Given the description of an element on the screen output the (x, y) to click on. 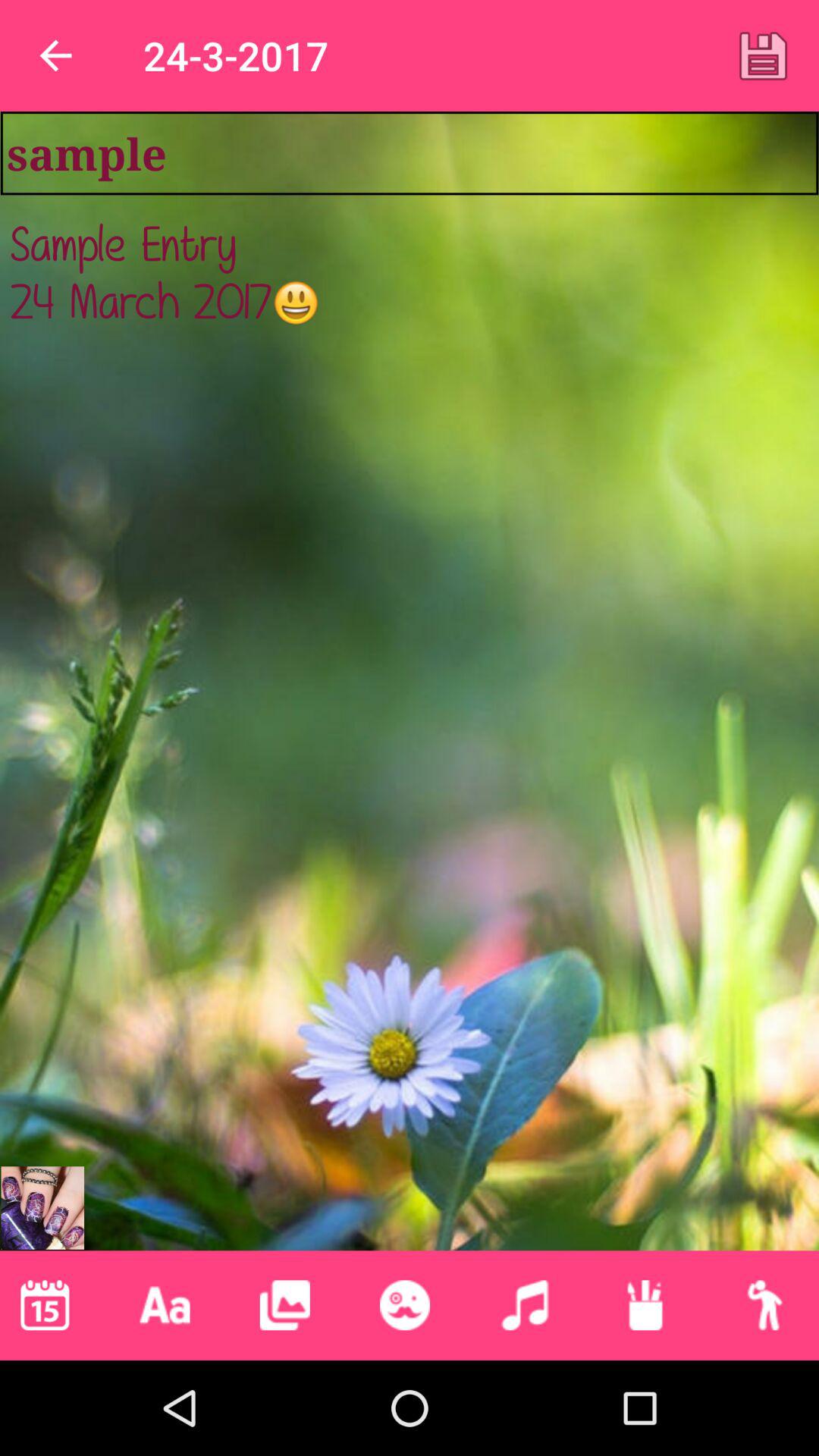
select sample entry 24 at the center (409, 689)
